Given the description of an element on the screen output the (x, y) to click on. 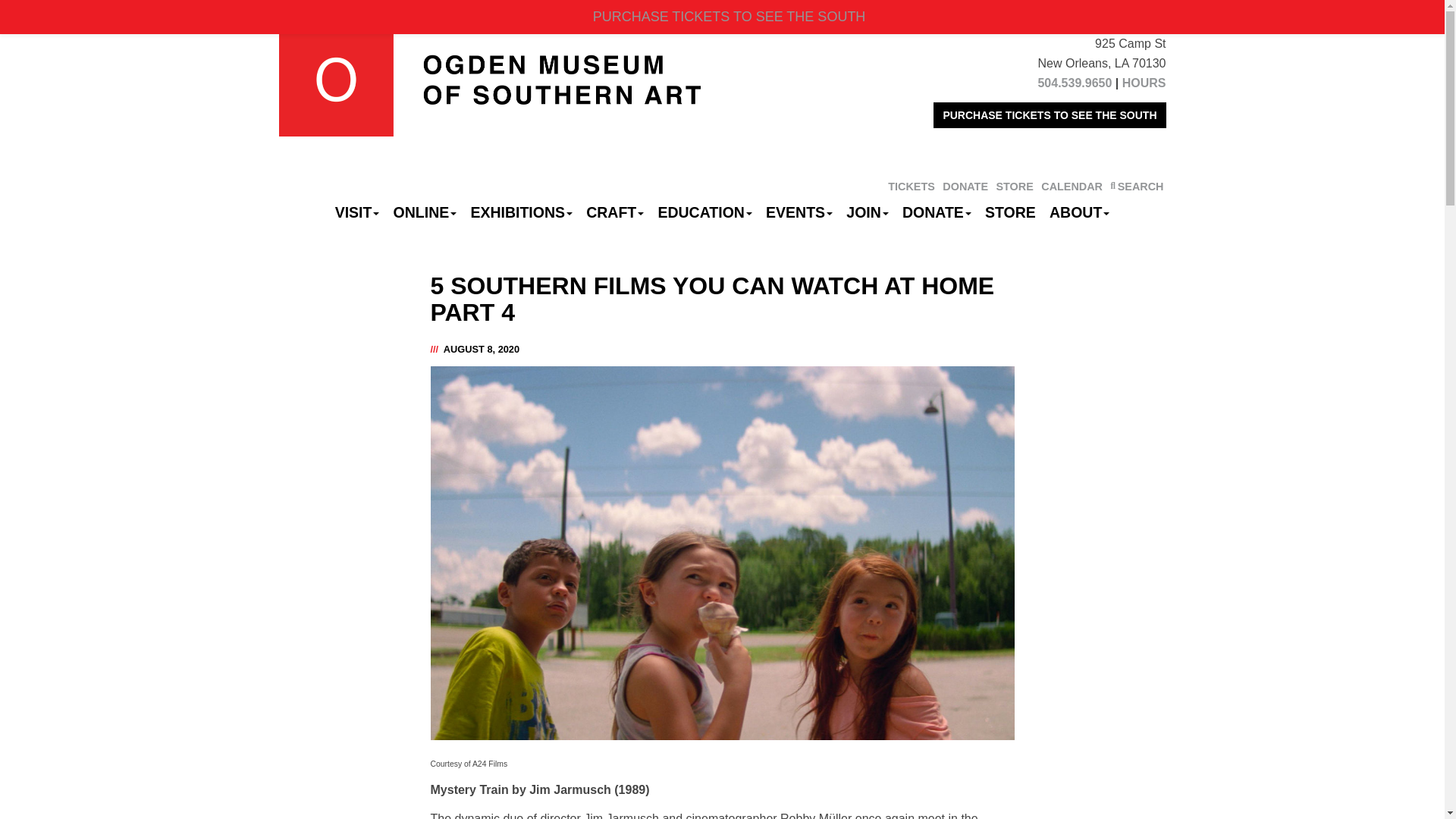
CRAFT (614, 212)
CALENDAR (1071, 186)
TICKETS (911, 186)
SEARCH (1136, 186)
504.539.9650 (1074, 82)
STORE (1013, 186)
EXHIBITIONS (521, 212)
HOURS (1144, 82)
EDUCATION (704, 212)
DONATE (965, 186)
